Given the description of an element on the screen output the (x, y) to click on. 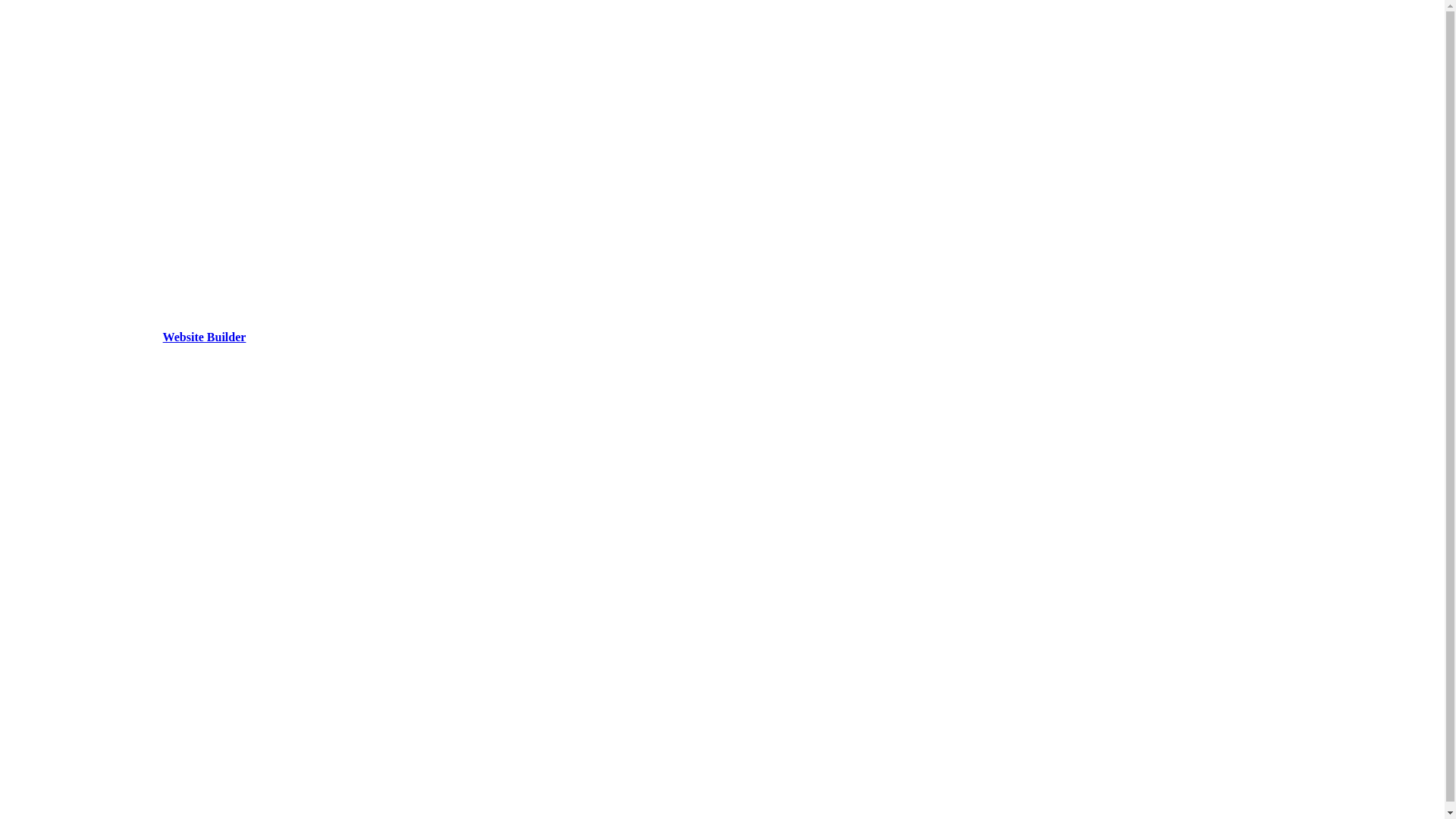
Website Builder Element type: text (204, 336)
